Given the description of an element on the screen output the (x, y) to click on. 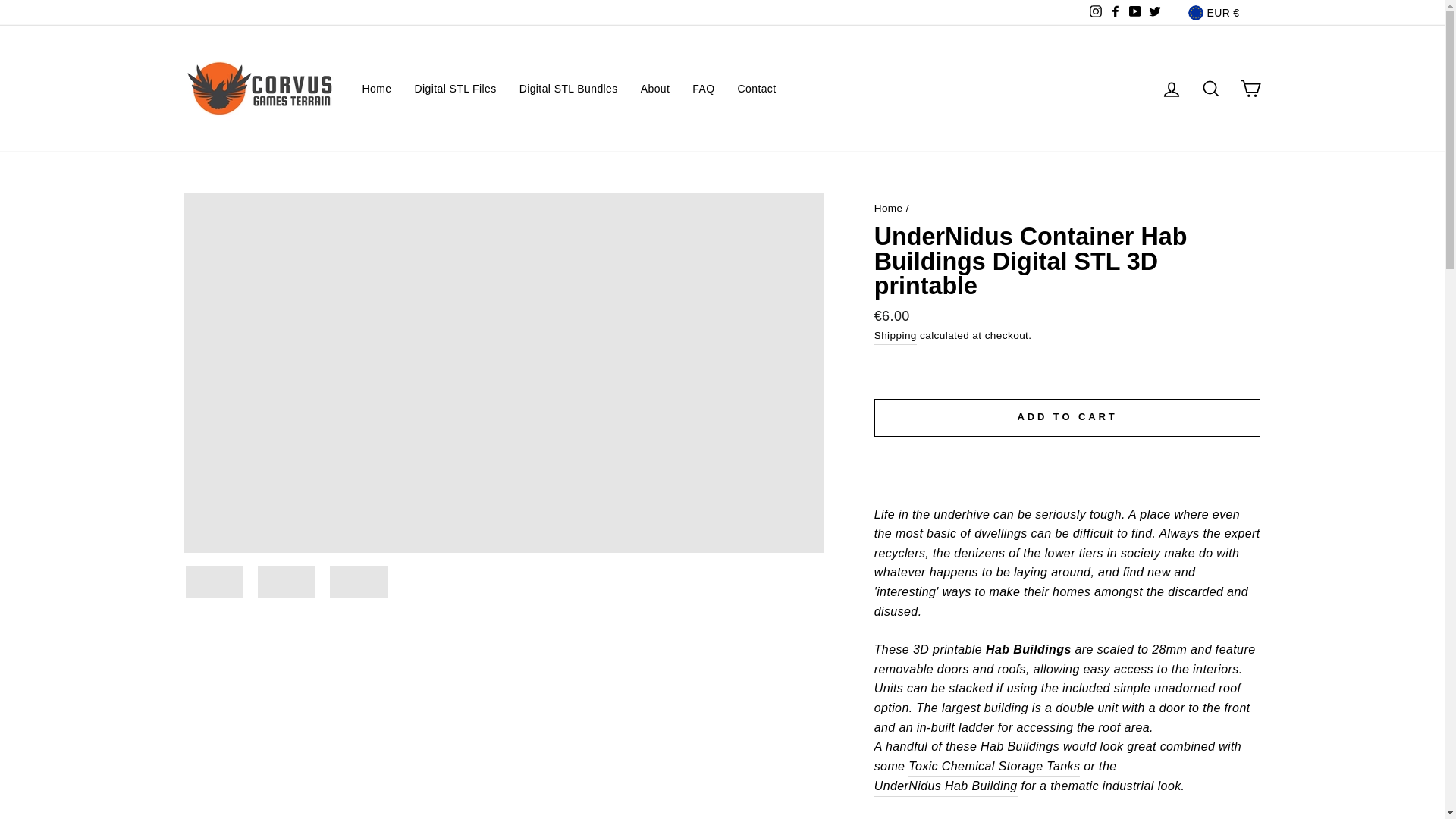
Back to the frontpage (888, 207)
